Given the description of an element on the screen output the (x, y) to click on. 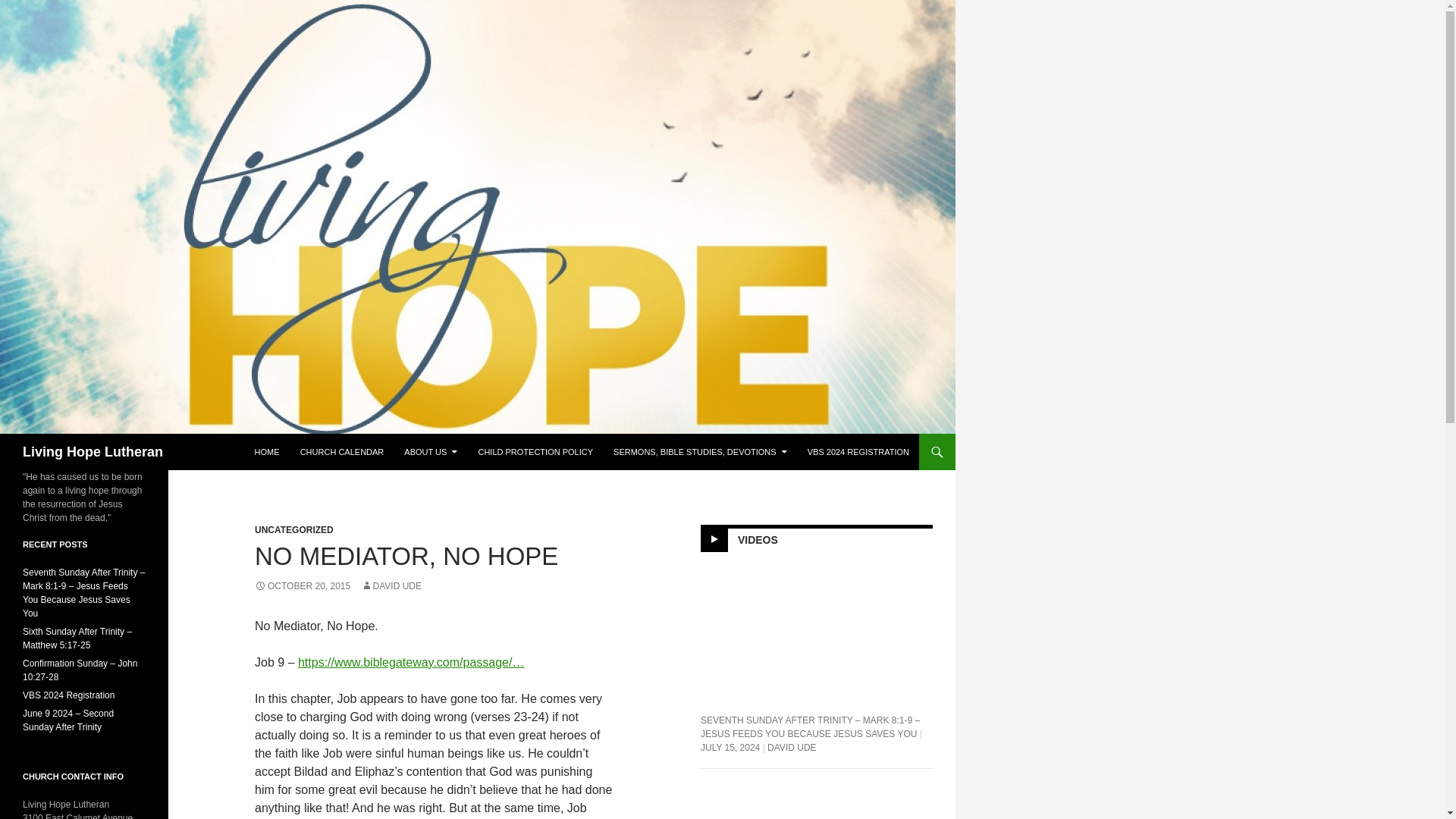
VBS 2024 REGISTRATION (857, 452)
Confirmation Sunday - John 10:27-28 (816, 800)
Seventh Sunday After Trinity (816, 630)
DAVID UDE (391, 585)
OCTOBER 20, 2015 (302, 585)
UNCATEGORIZED (293, 529)
DAVID UDE (791, 747)
Living Hope Lutheran (93, 452)
HOME (267, 452)
CHILD PROTECTION POLICY (535, 452)
CHURCH CALENDAR (342, 452)
VIDEOS (757, 539)
SERMONS, BIBLE STUDIES, DEVOTIONS (700, 452)
